Given the description of an element on the screen output the (x, y) to click on. 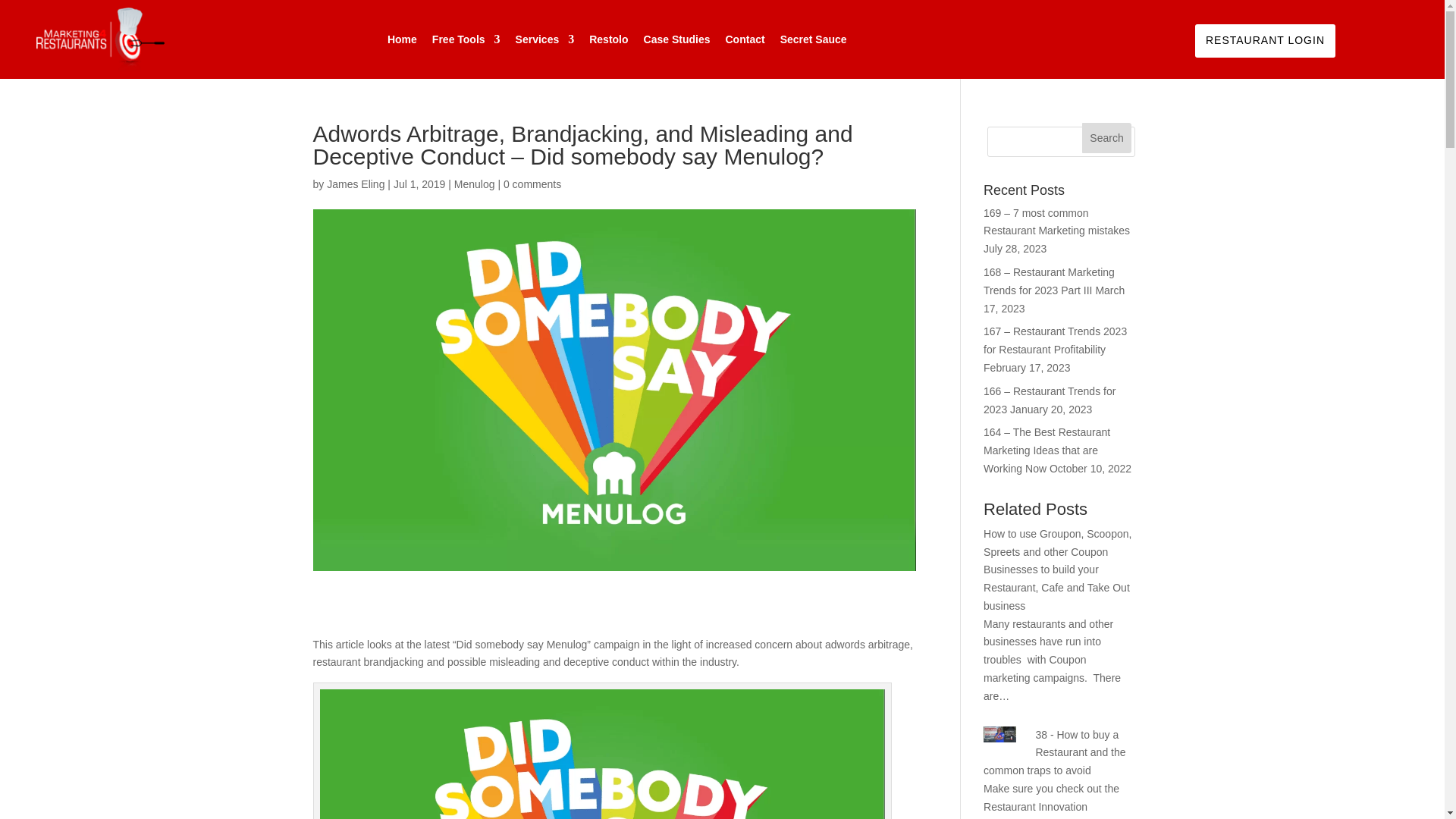
James Eling (355, 184)
Search (1106, 137)
Posts by James Eling (355, 184)
Menulog (474, 184)
Services (545, 39)
0 comments (531, 184)
Free Tools (466, 39)
Secret Sauce (813, 39)
RESTAURANT LOGIN (1265, 40)
Case Studies (676, 39)
